Given the description of an element on the screen output the (x, y) to click on. 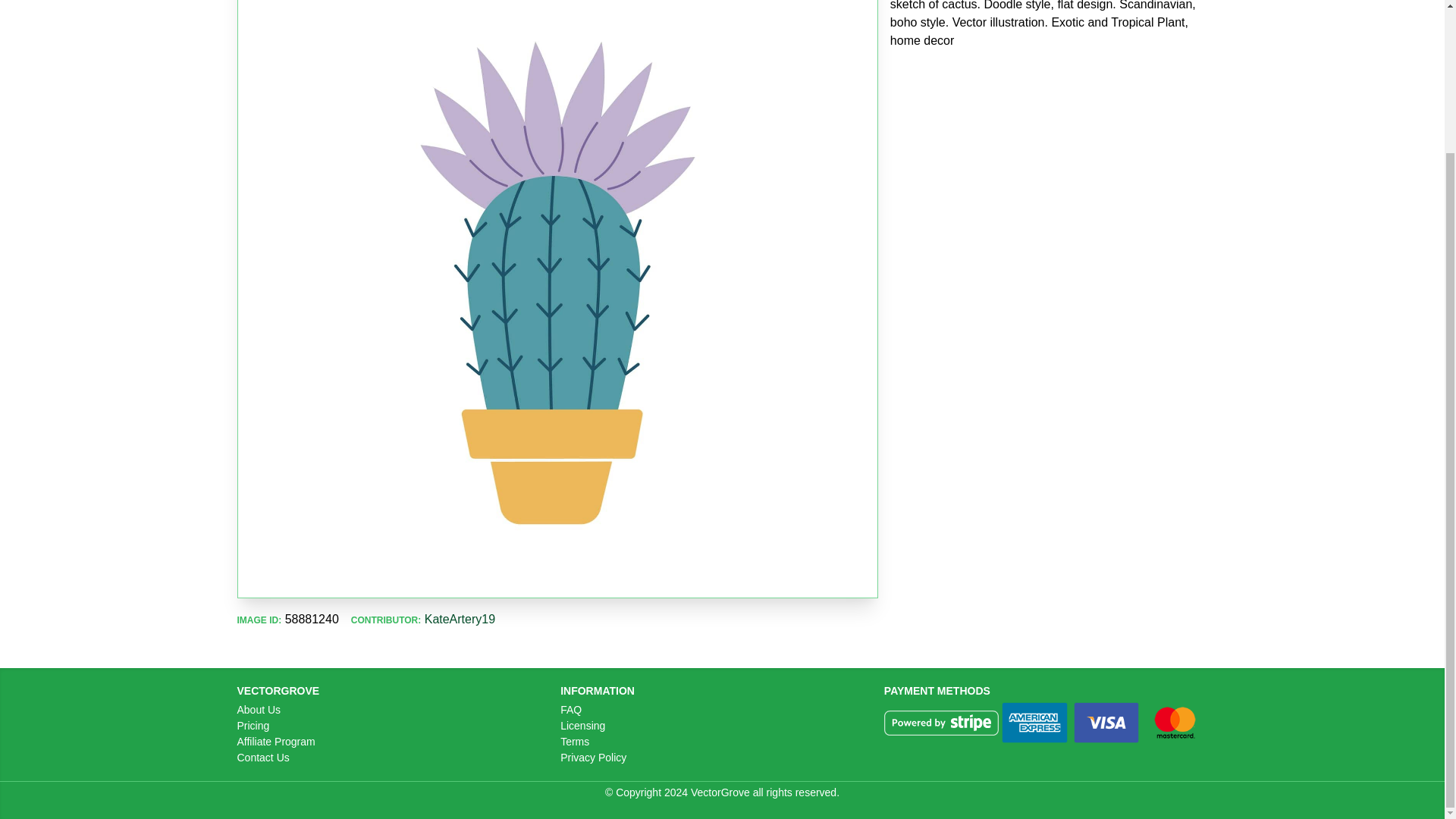
Pricing (252, 725)
Contact Us (261, 757)
Terms (574, 741)
Privacy Policy (593, 757)
KateArtery19 (460, 618)
Affiliate Program (274, 741)
Licensing (582, 725)
About Us (258, 709)
FAQ (570, 709)
